Given the description of an element on the screen output the (x, y) to click on. 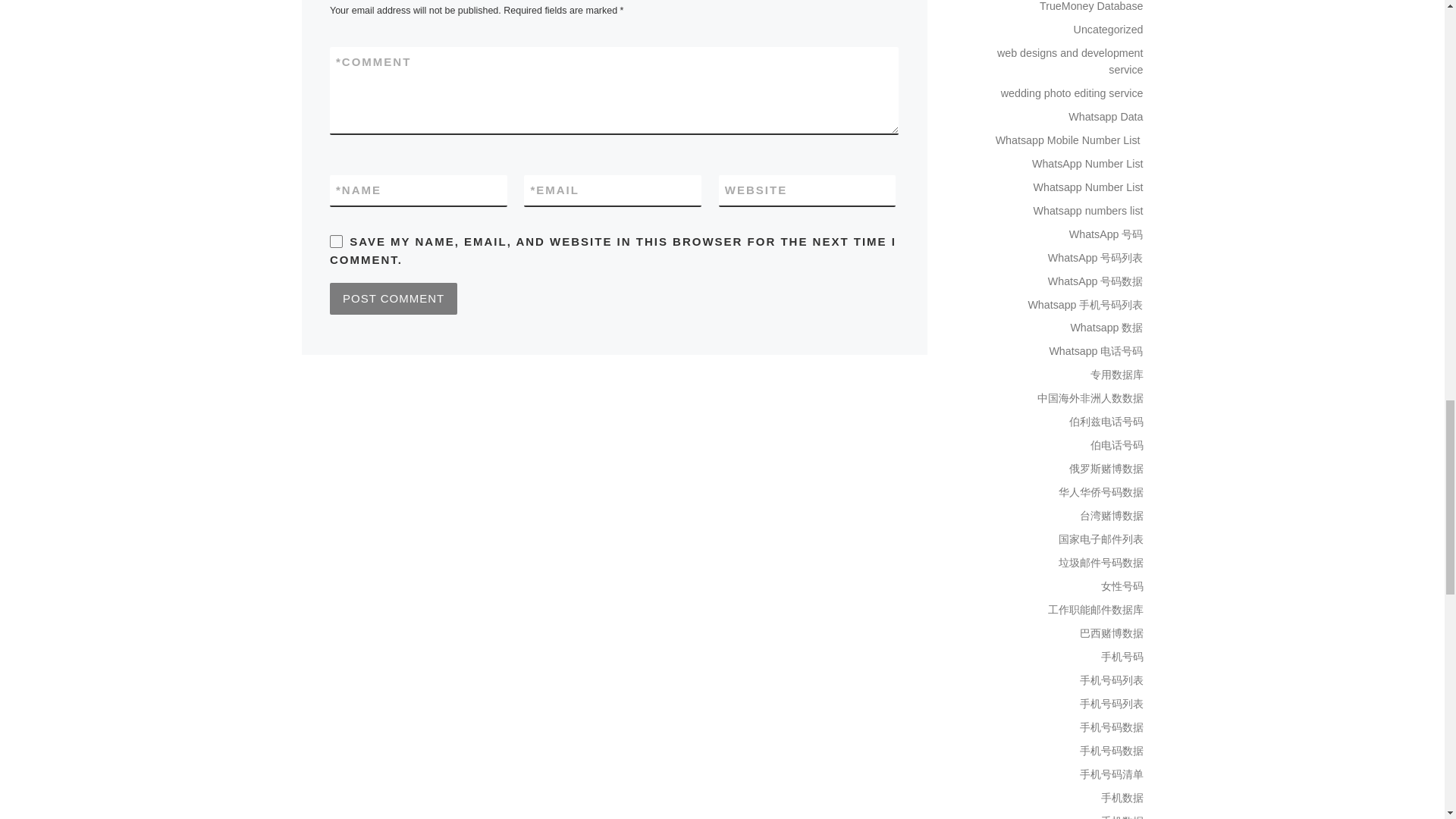
Post Comment (393, 298)
yes (336, 241)
